Given the description of an element on the screen output the (x, y) to click on. 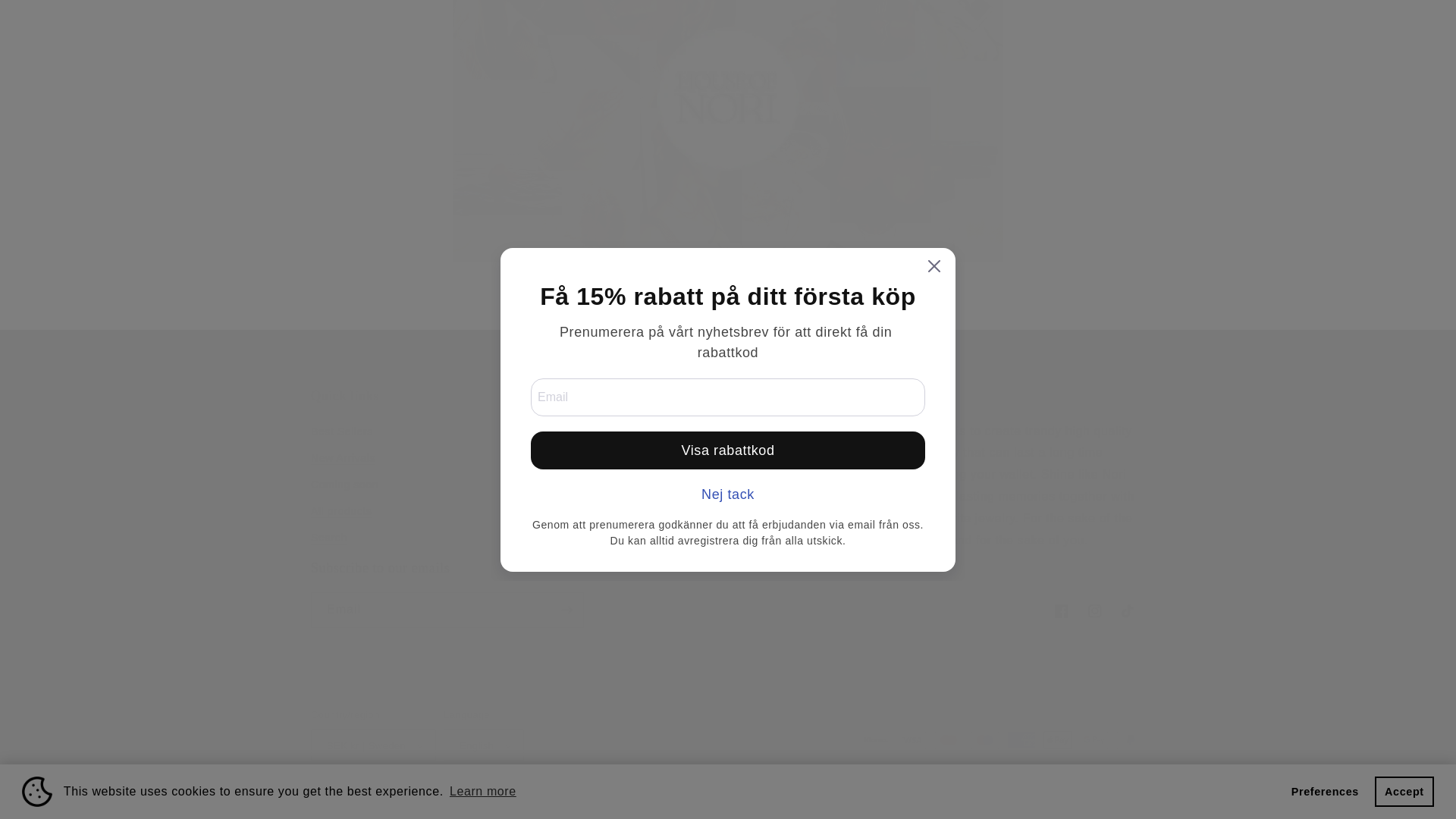
Learn more (482, 71)
Accept (1404, 71)
Preferences (1324, 71)
